Given the description of an element on the screen output the (x, y) to click on. 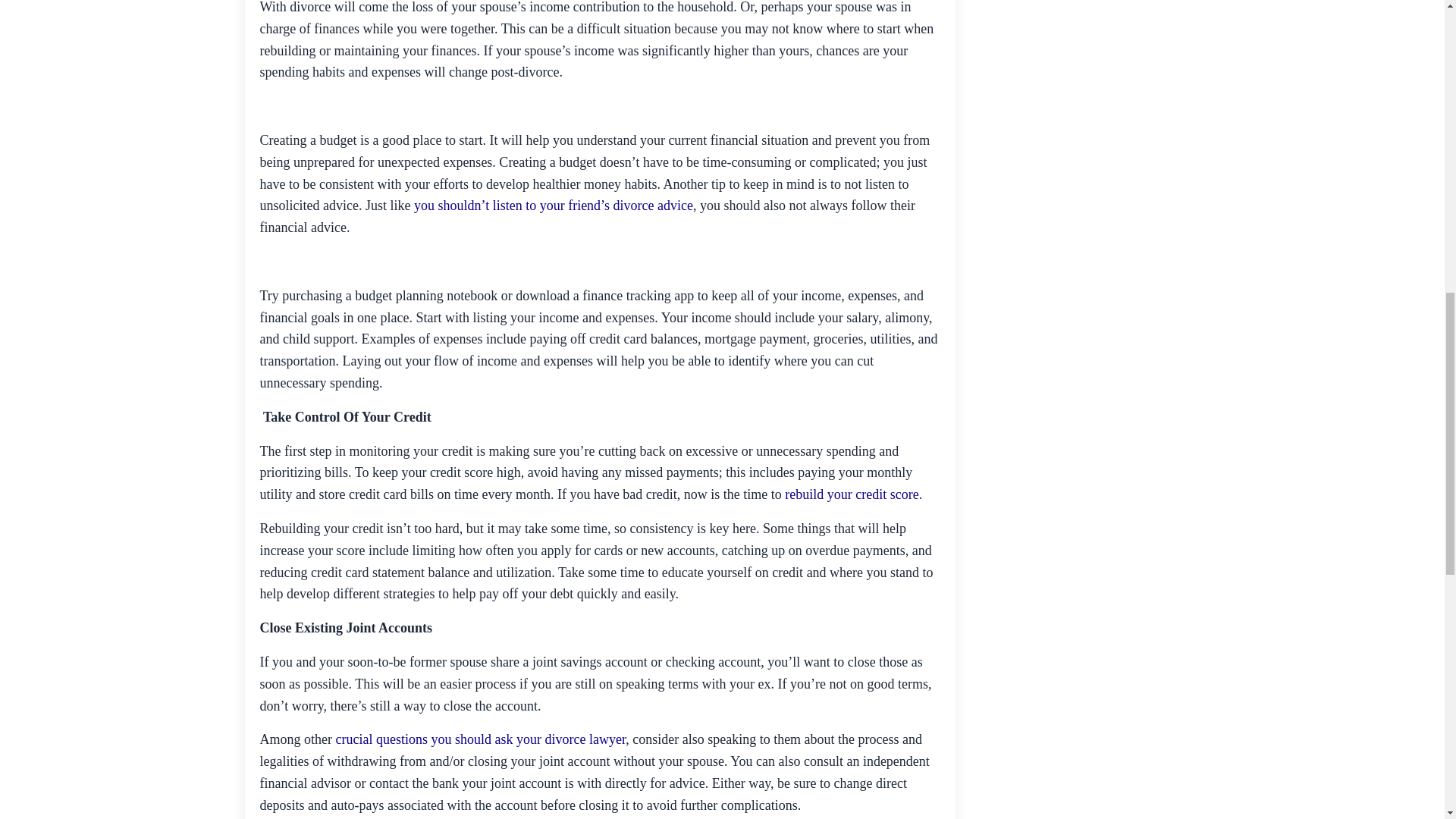
crucial questions you should ask your divorce lawyer (480, 739)
rebuild your credit score (851, 494)
